Given the description of an element on the screen output the (x, y) to click on. 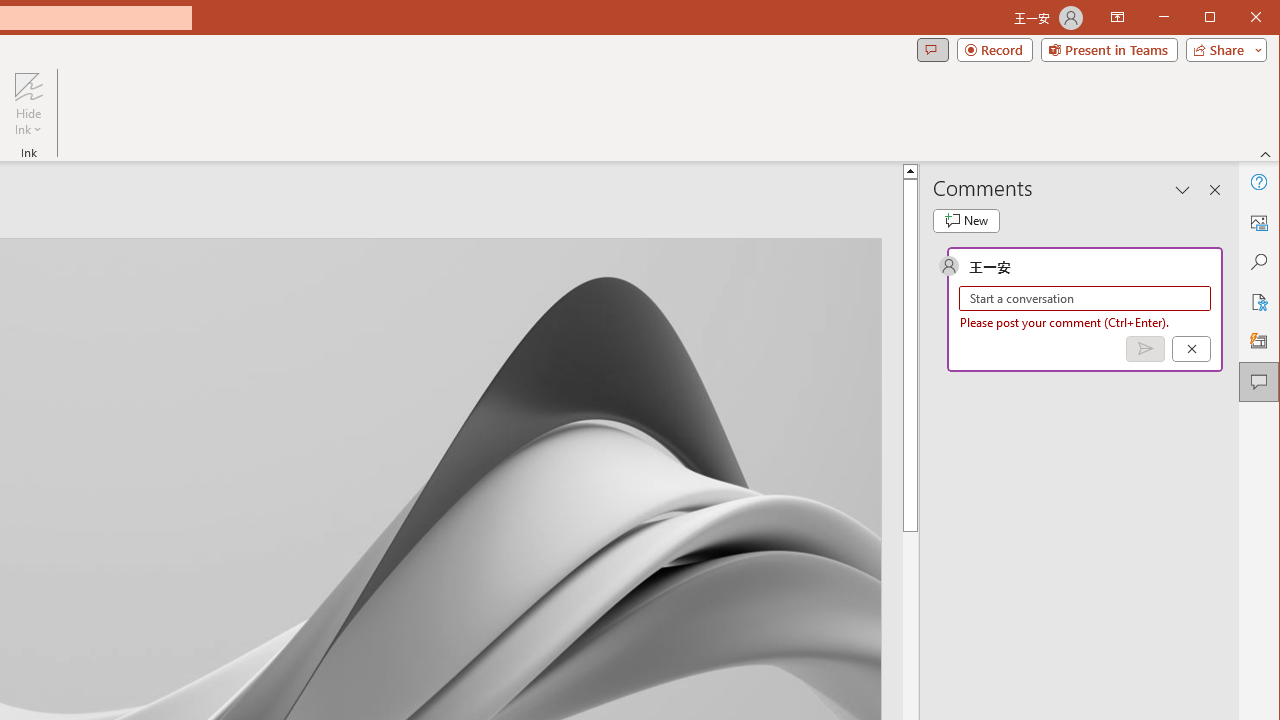
Cancel (1191, 349)
Start a conversation (1085, 298)
